Given the description of an element on the screen output the (x, y) to click on. 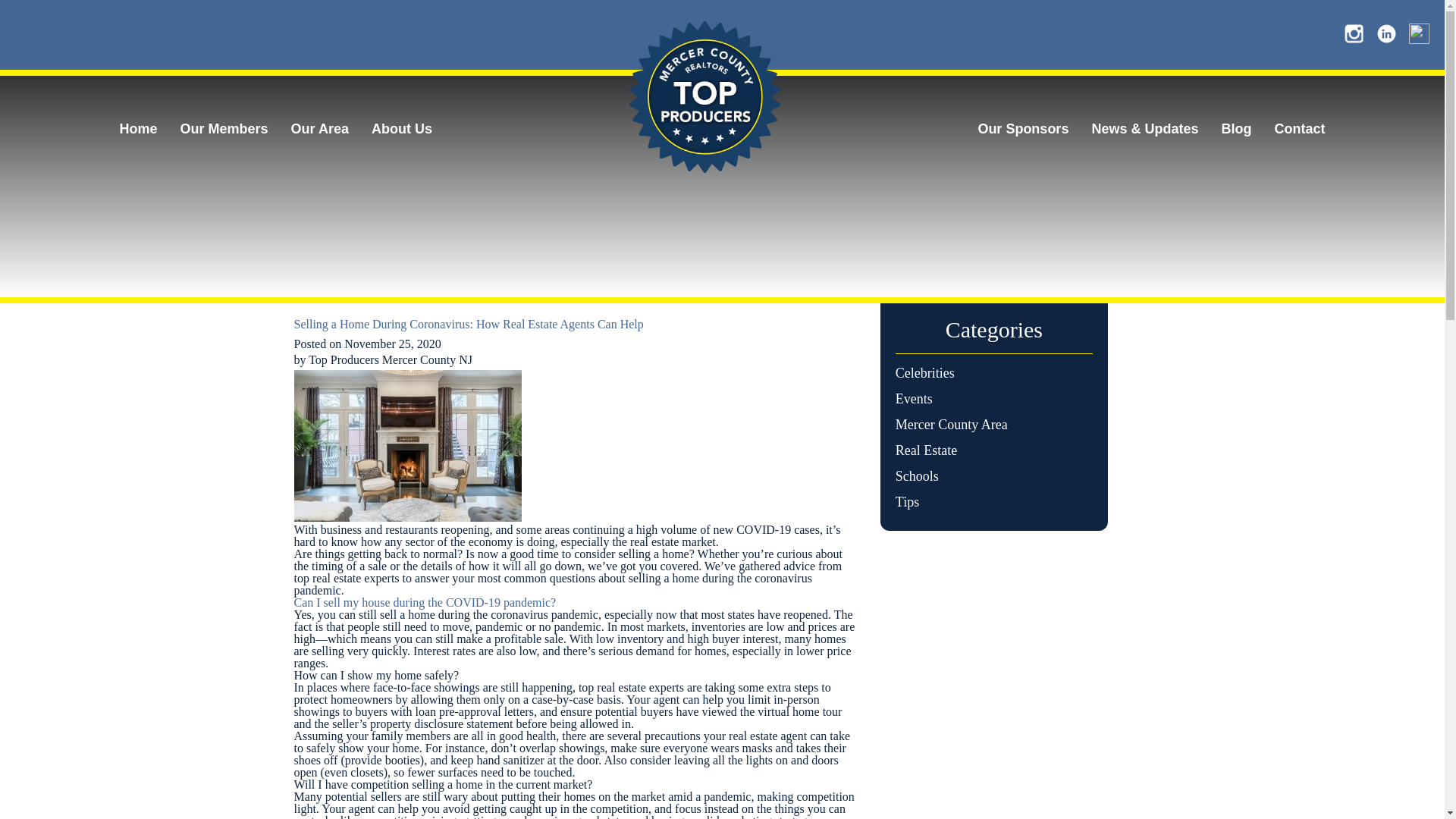
Our Members (223, 128)
Real Estate (925, 450)
Schools (917, 476)
About Us (401, 128)
Events (914, 398)
Contact (1299, 128)
Mercer County Area (951, 424)
Our Sponsors (1022, 128)
Celebrities (925, 372)
Blog (1235, 128)
Our Area (320, 128)
Home (138, 128)
